Given the description of an element on the screen output the (x, y) to click on. 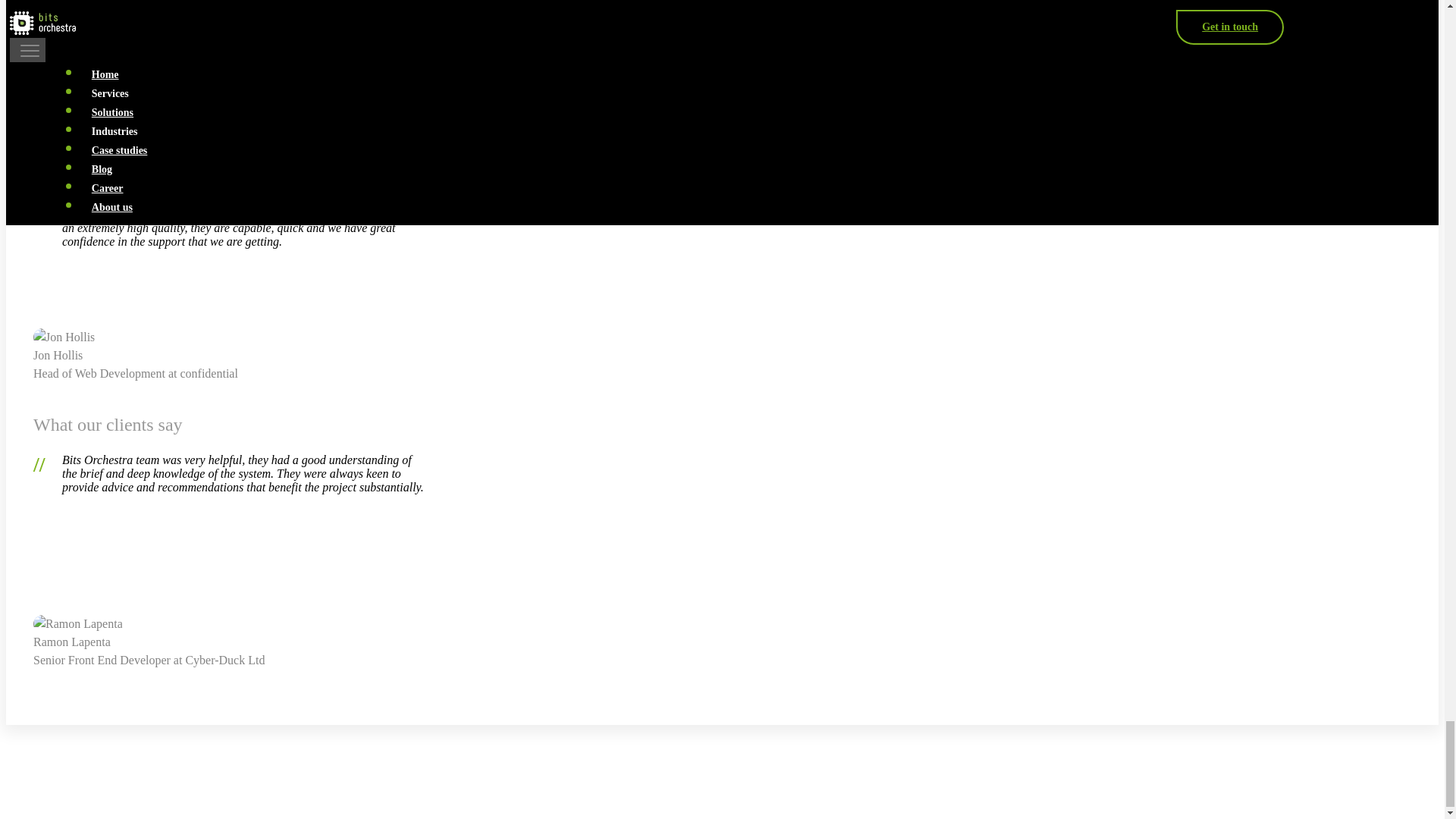
Jon Hollis (63, 337)
Sylvain Audet (74, 50)
Ramon Lapenta (77, 624)
